Given the description of an element on the screen output the (x, y) to click on. 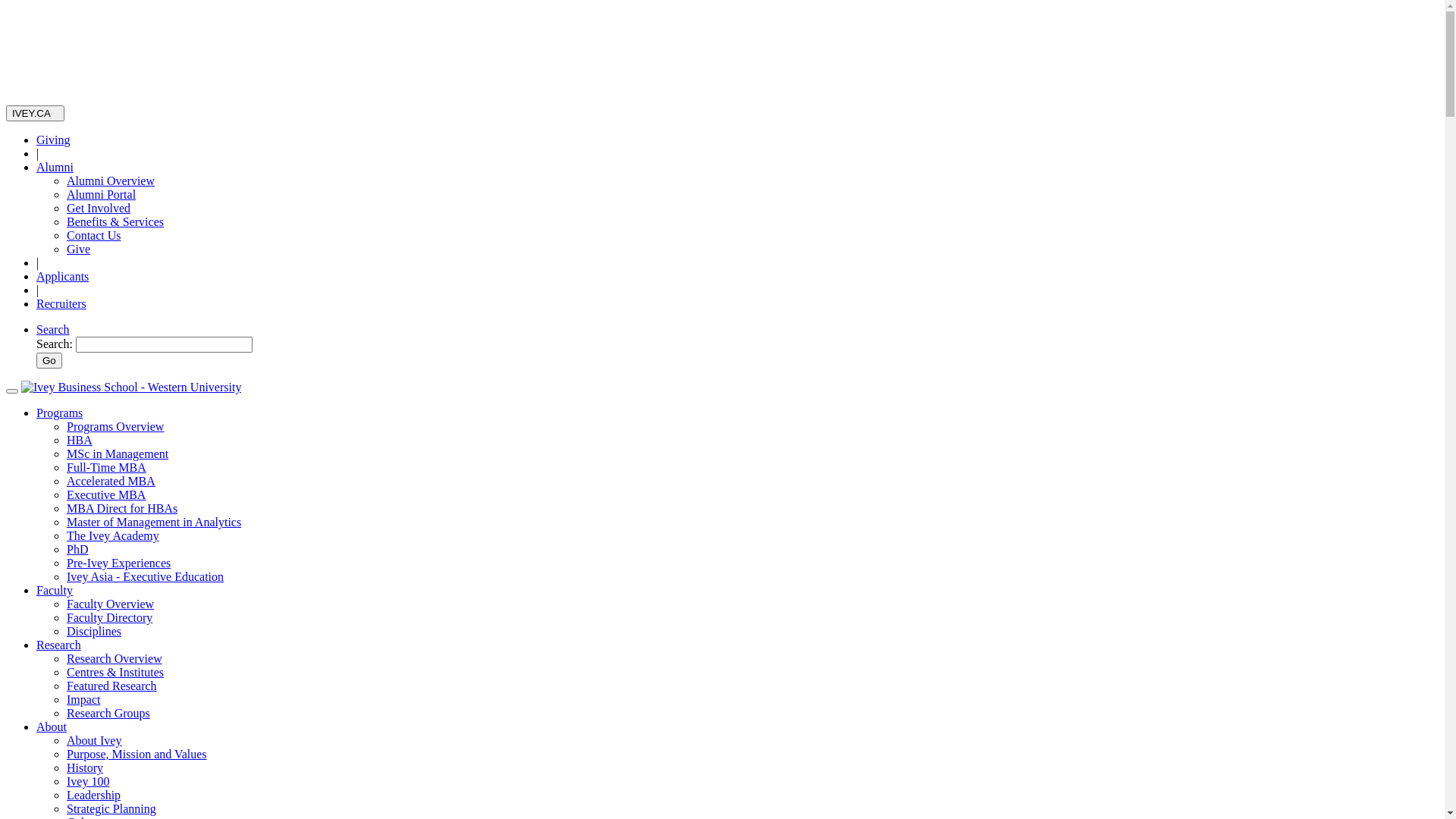
Faculty Element type: text (54, 589)
HBA Element type: text (79, 439)
MSc in Management Element type: text (117, 453)
Alumni Portal Element type: text (100, 194)
Give Element type: text (78, 248)
Giving Element type: text (52, 139)
Get Involved Element type: text (98, 207)
About Ivey Element type: text (93, 740)
Alumni Overview Element type: text (110, 180)
MBA Direct for HBAs Element type: text (121, 508)
Faculty Overview Element type: text (109, 603)
Research Overview Element type: text (114, 658)
Faculty Directory Element type: text (109, 617)
Go Element type: text (49, 360)
Applicants Element type: text (62, 275)
IVEY.CA    Element type: text (35, 113)
Executive MBA Element type: text (105, 494)
Leadership Element type: text (93, 794)
History Element type: text (84, 767)
Purpose, Mission and Values Element type: text (136, 753)
Accelerated MBA Element type: text (110, 480)
Search Element type: text (52, 329)
Recruiters Element type: text (61, 303)
Research Groups Element type: text (108, 712)
The Ivey Academy Element type: text (112, 535)
Contact Us Element type: text (93, 235)
Impact Element type: text (83, 699)
Disciplines Element type: text (93, 630)
Programs Overview Element type: text (114, 426)
About Element type: text (51, 726)
Programs Element type: text (59, 412)
Full-Time MBA Element type: text (106, 467)
Centres & Institutes Element type: text (114, 671)
Pre-Ivey Experiences Element type: text (118, 562)
Ivey Asia - Executive Education Element type: text (144, 576)
Ivey 100 Element type: text (87, 781)
Master of Management in Analytics Element type: text (153, 521)
PhD Element type: text (76, 548)
Alumni Element type: text (54, 166)
Benefits & Services Element type: text (114, 221)
Strategic Planning Element type: text (111, 808)
Research Element type: text (58, 644)
Featured Research Element type: text (111, 685)
